Given the description of an element on the screen output the (x, y) to click on. 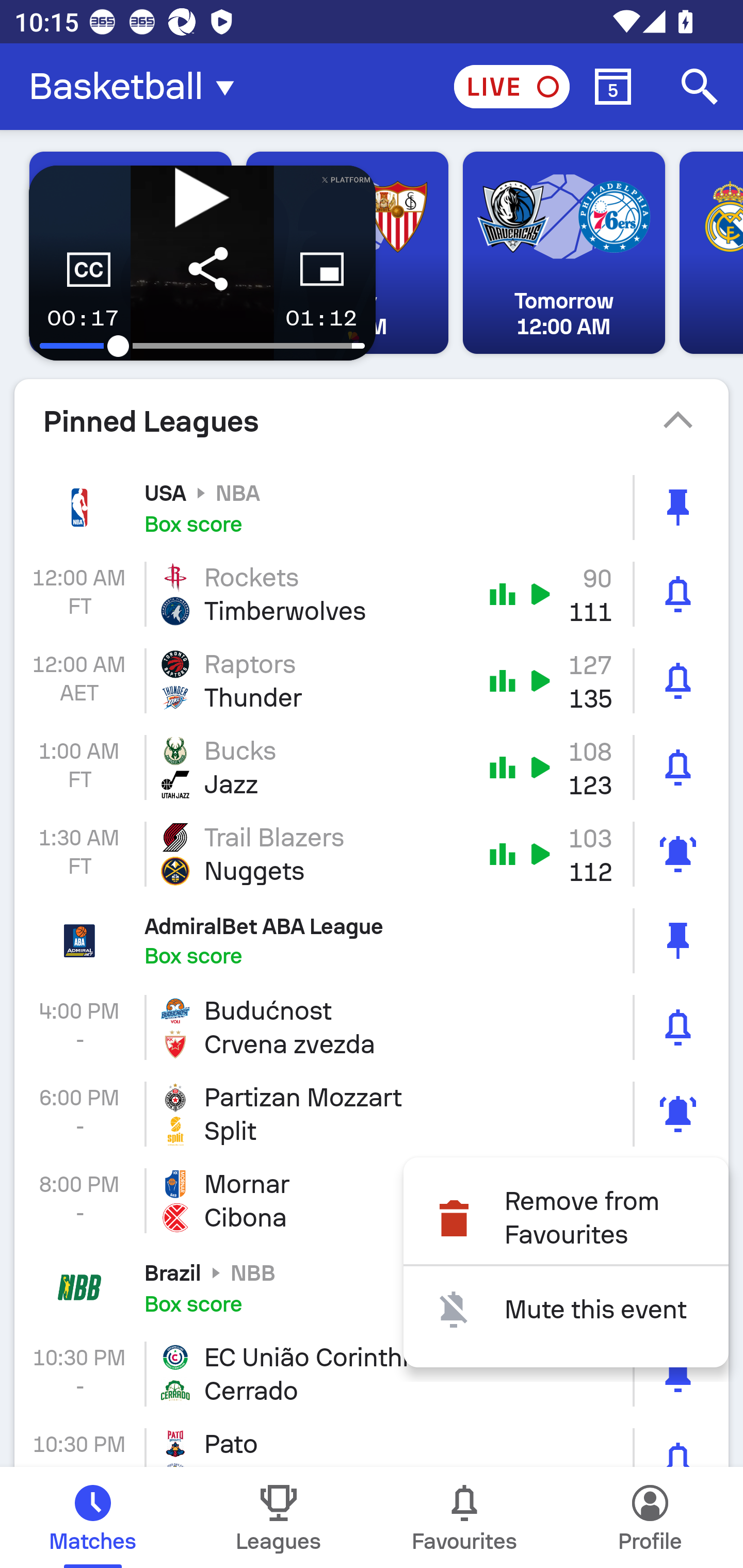
Remove from Favourites (565, 1217)
Mute this event (565, 1309)
